Given the description of an element on the screen output the (x, y) to click on. 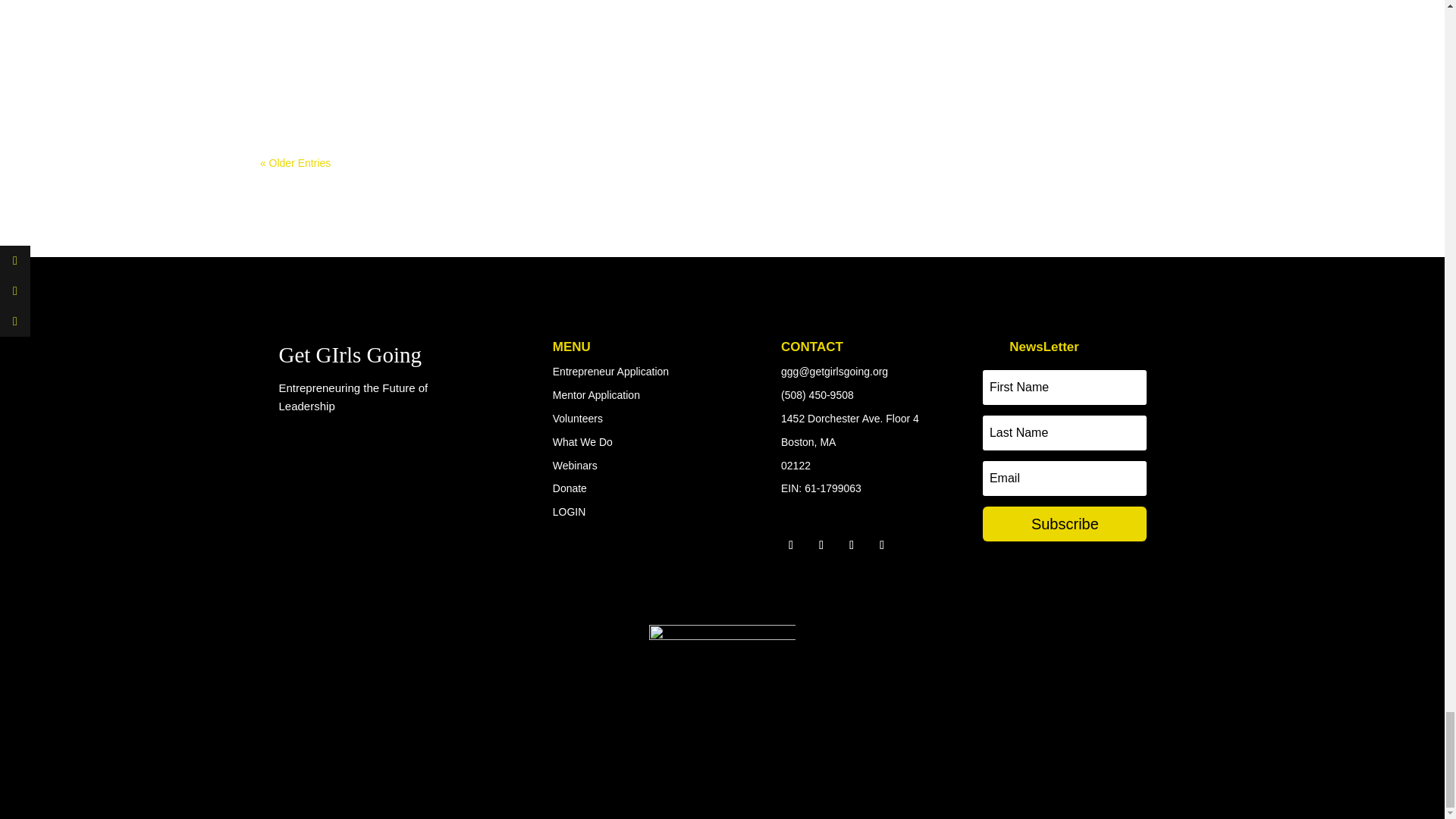
Follow on X (820, 545)
Follow on Facebook (790, 545)
Follow on Youtube (881, 545)
Follow on Instagram (851, 545)
